Given the description of an element on the screen output the (x, y) to click on. 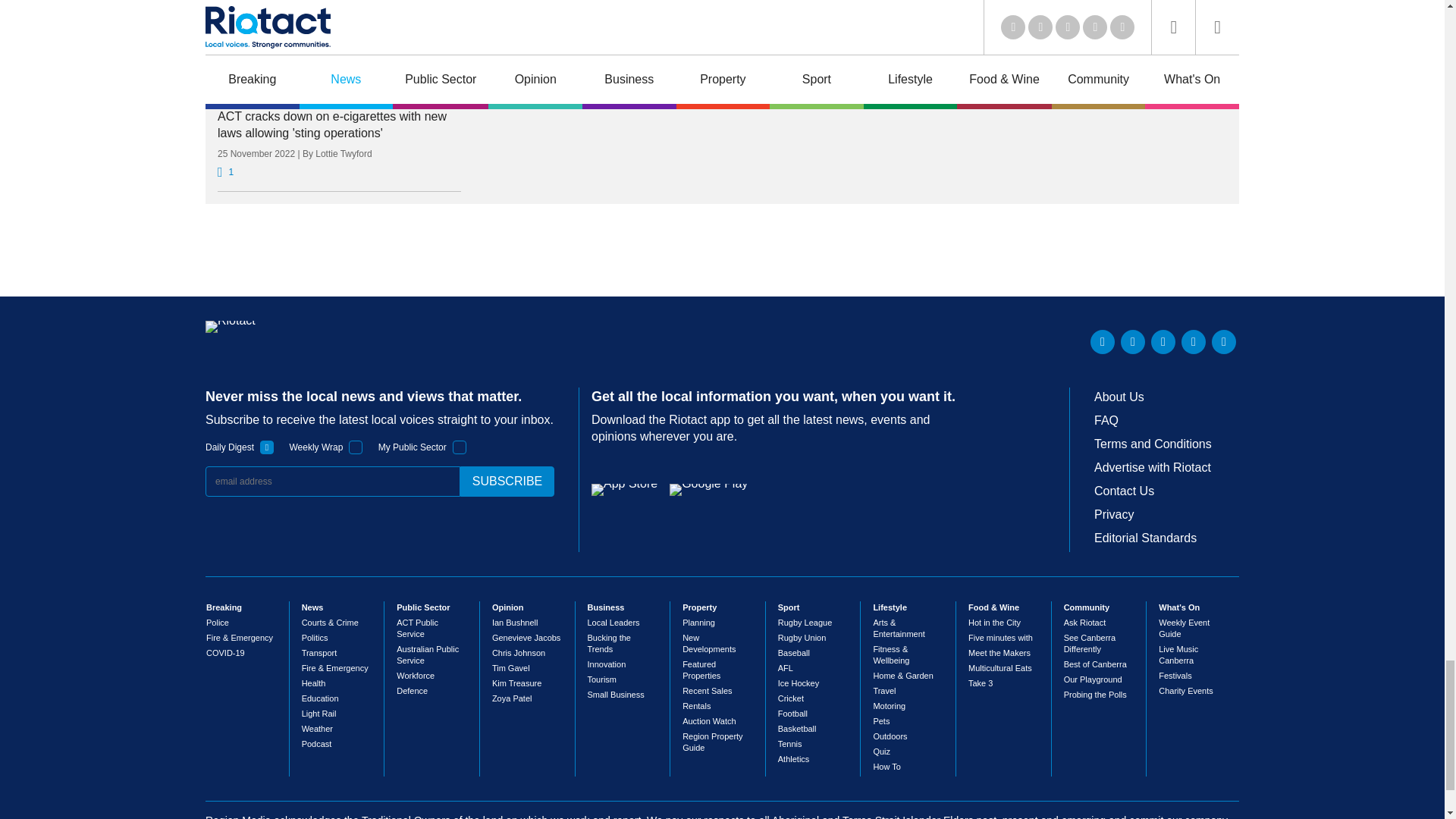
Facebook (1192, 341)
1 (458, 447)
Twitter (1132, 341)
subscribe (507, 481)
App Store (624, 490)
1 (266, 447)
Youtube (1162, 341)
LinkedIn (1102, 341)
Instagram (1223, 341)
1 (355, 447)
